Given the description of an element on the screen output the (x, y) to click on. 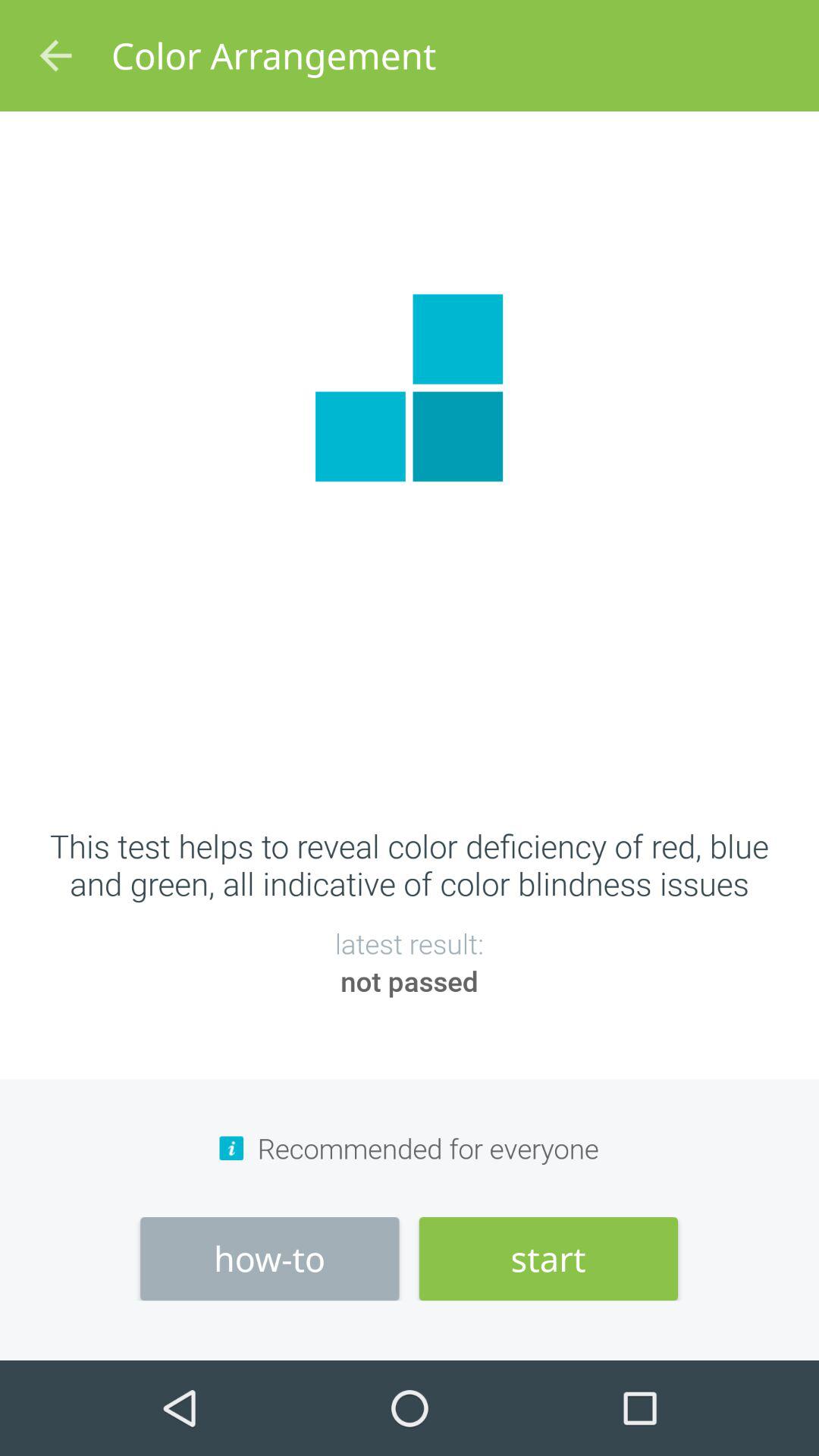
click item to the left of start item (269, 1258)
